Given the description of an element on the screen output the (x, y) to click on. 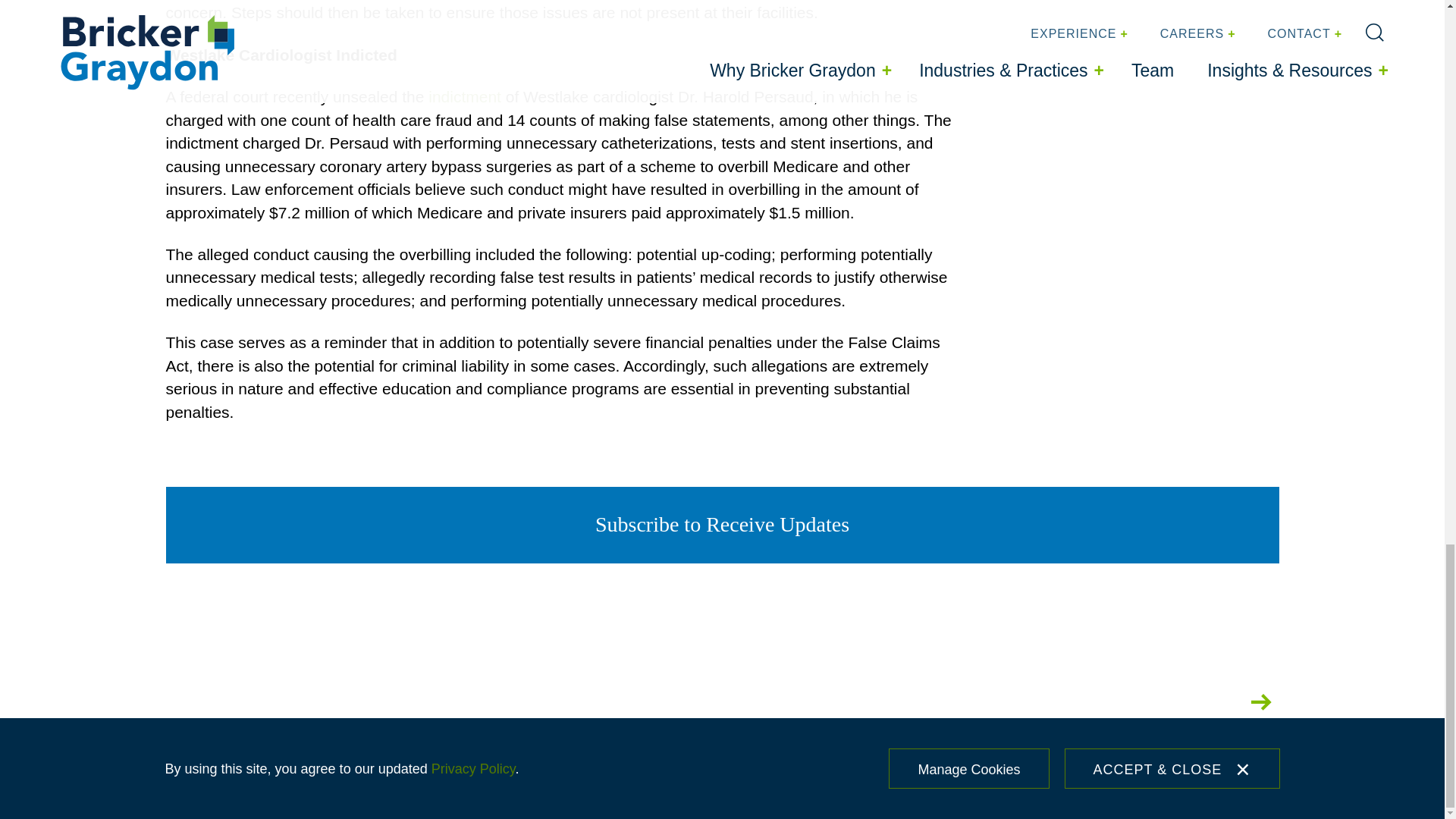
Linkedin (1164, 701)
Youtube (1213, 701)
Twitter (1026, 701)
Instagram (1075, 701)
